Given the description of an element on the screen output the (x, y) to click on. 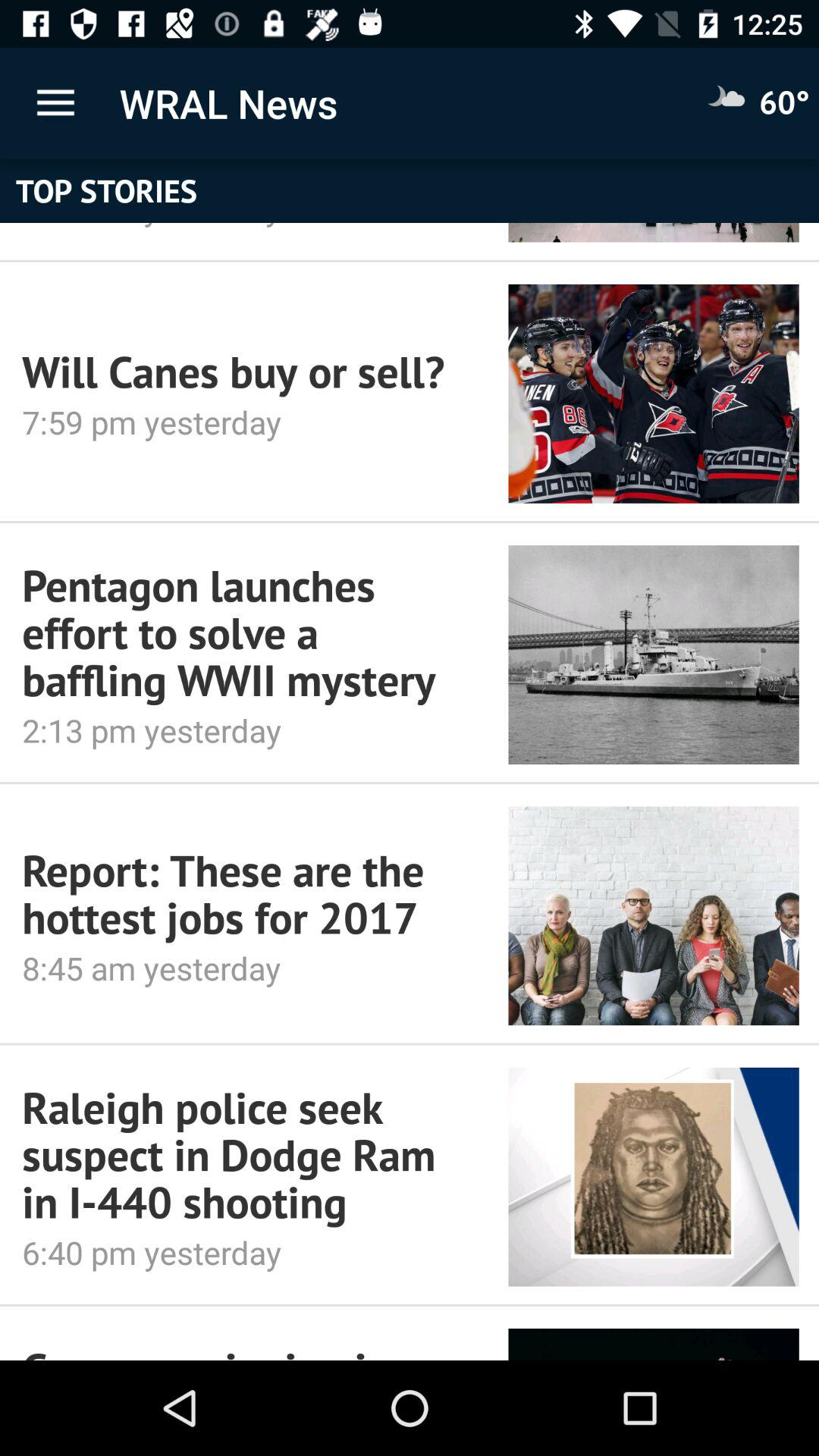
turn on pentagon launches effort icon (244, 632)
